Given the description of an element on the screen output the (x, y) to click on. 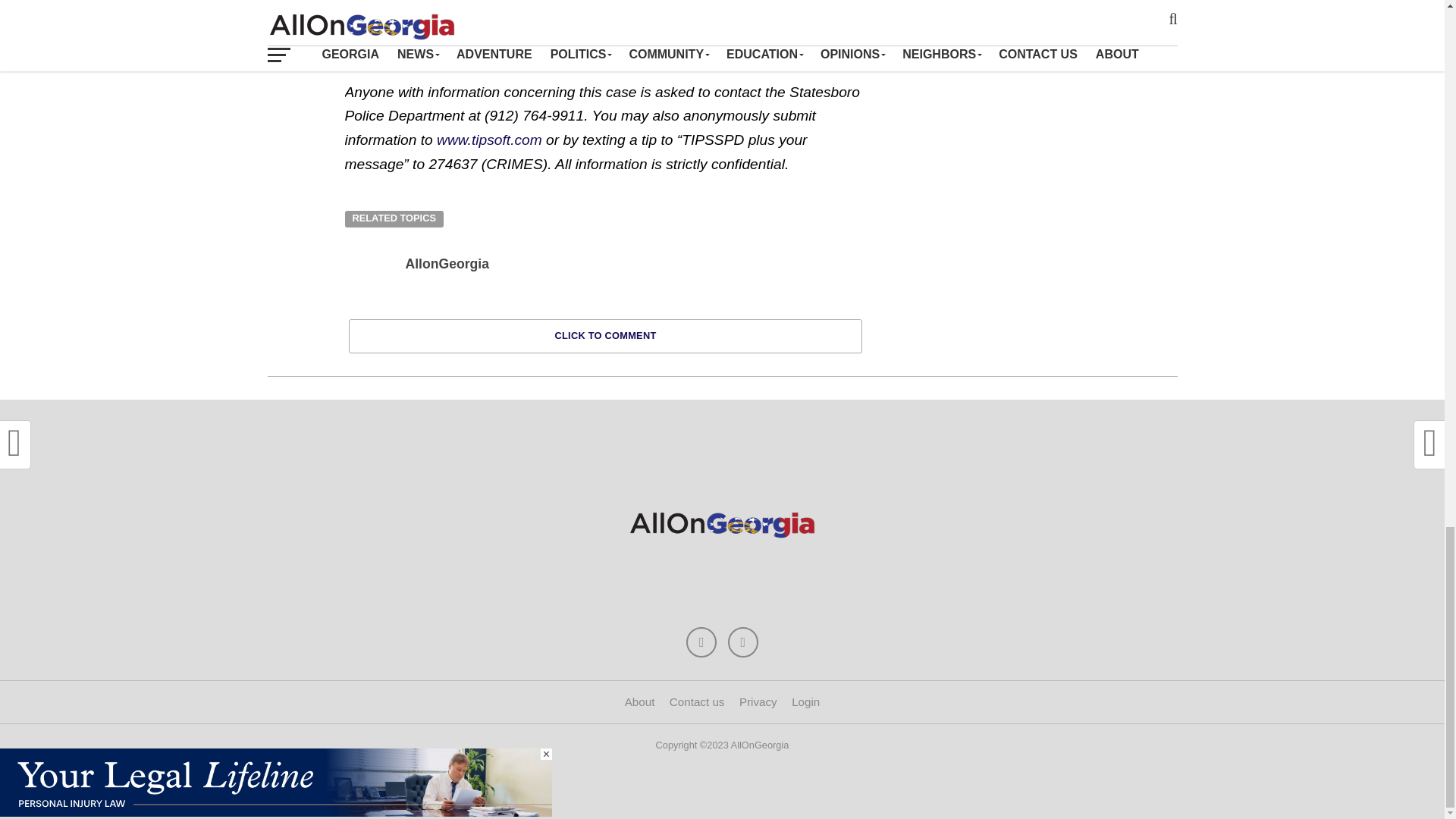
Posts by AllonGeorgia (445, 263)
YouTube video player (1029, 105)
Advertisement (721, 463)
Advertisement (721, 574)
